Given the description of an element on the screen output the (x, y) to click on. 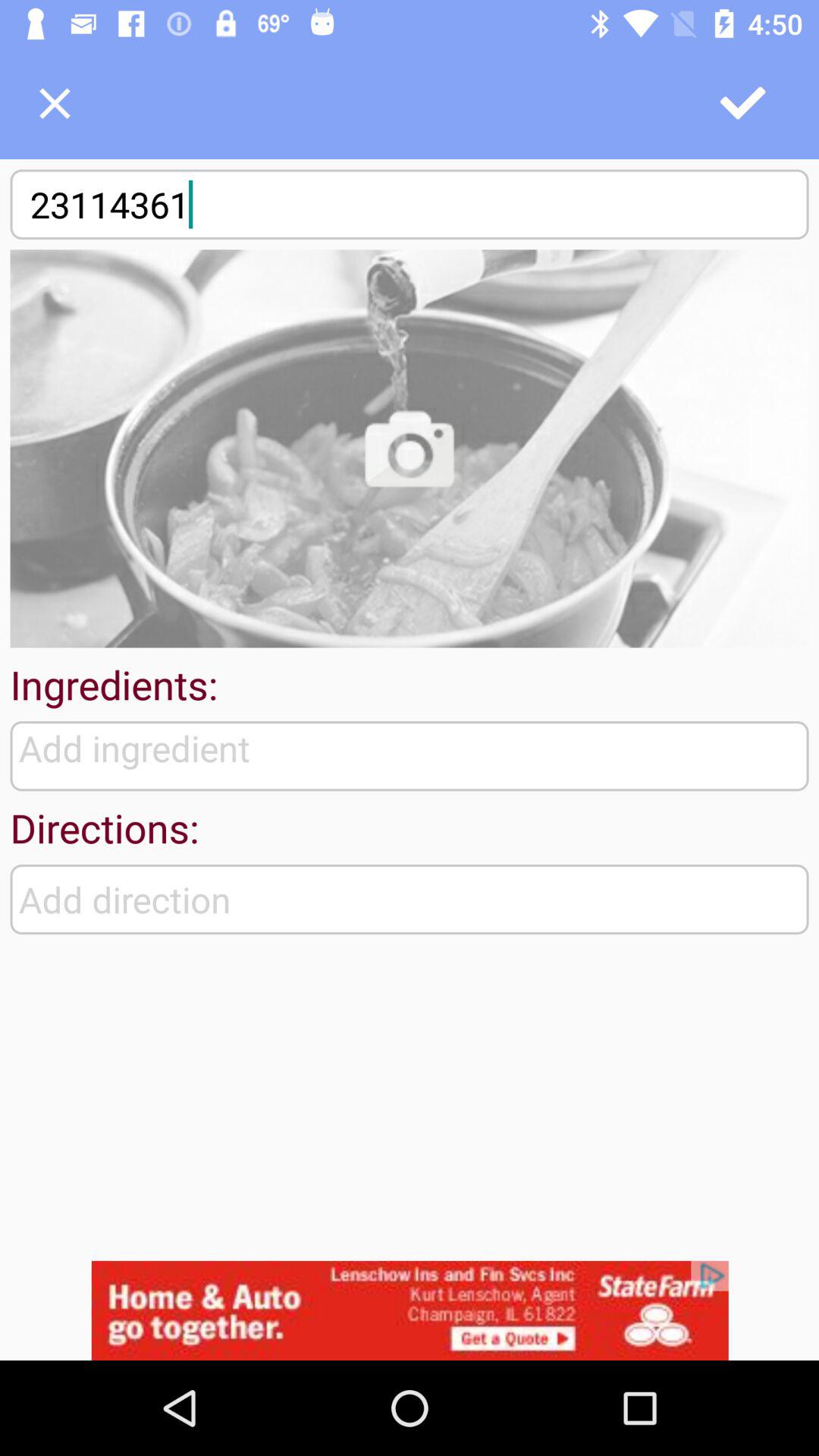
correct the option (744, 103)
